Given the description of an element on the screen output the (x, y) to click on. 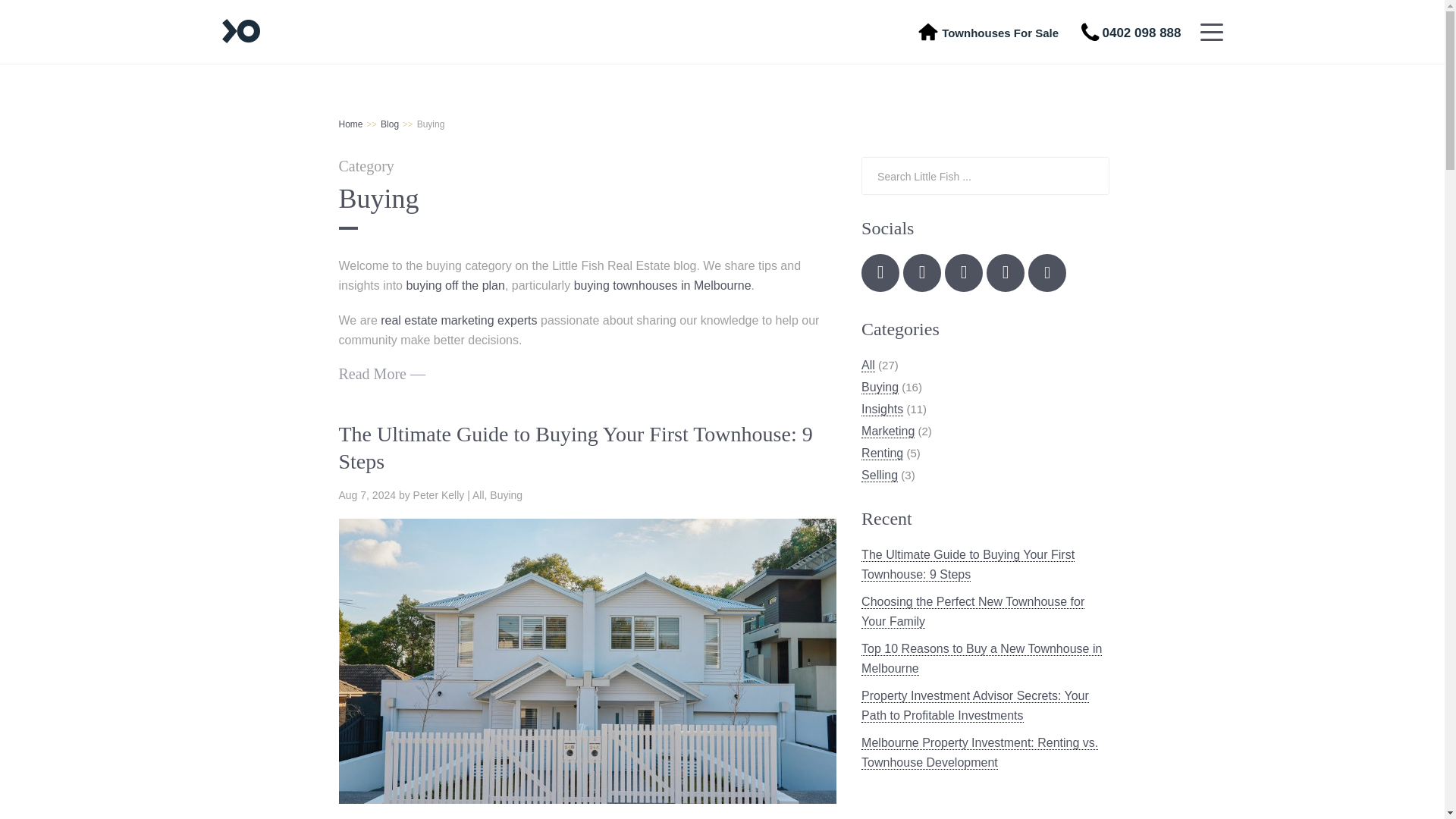
Posts by Peter Kelly (438, 494)
Buying (505, 494)
0402 098 888 (1130, 33)
Peter Kelly (438, 494)
real estate marketing experts (458, 319)
The Ultimate Guide to Buying Your First Townhouse: 9 Steps (574, 447)
Townhouses For Sale (1000, 32)
Home (349, 125)
Blog (389, 125)
